Given the description of an element on the screen output the (x, y) to click on. 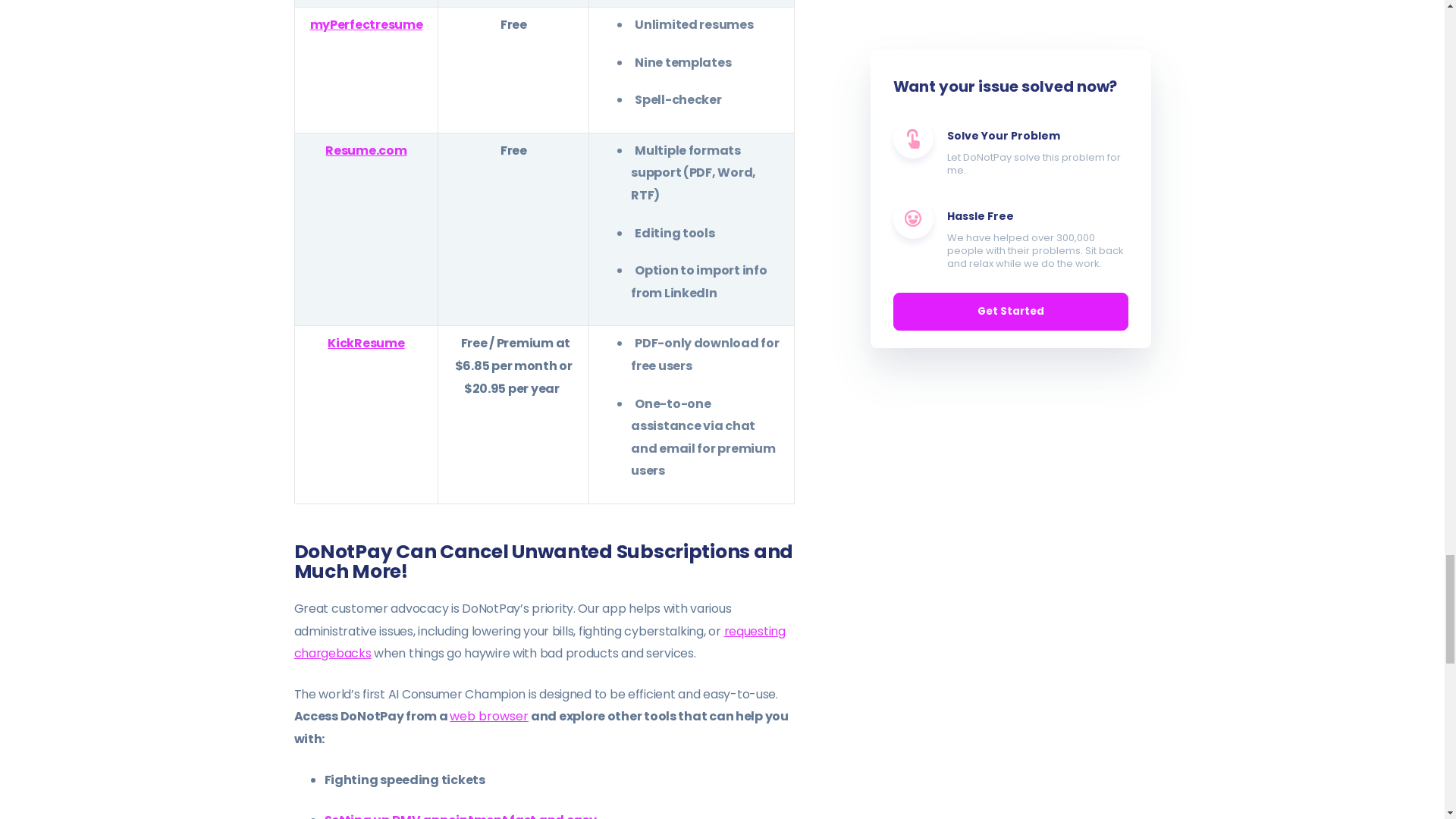
myPerfectresume (365, 24)
Resume.com (365, 150)
web browser (488, 715)
requesting chargebacks (540, 642)
KickResume (365, 342)
Setting up DMV appointment fast and easy (460, 815)
